Given the description of an element on the screen output the (x, y) to click on. 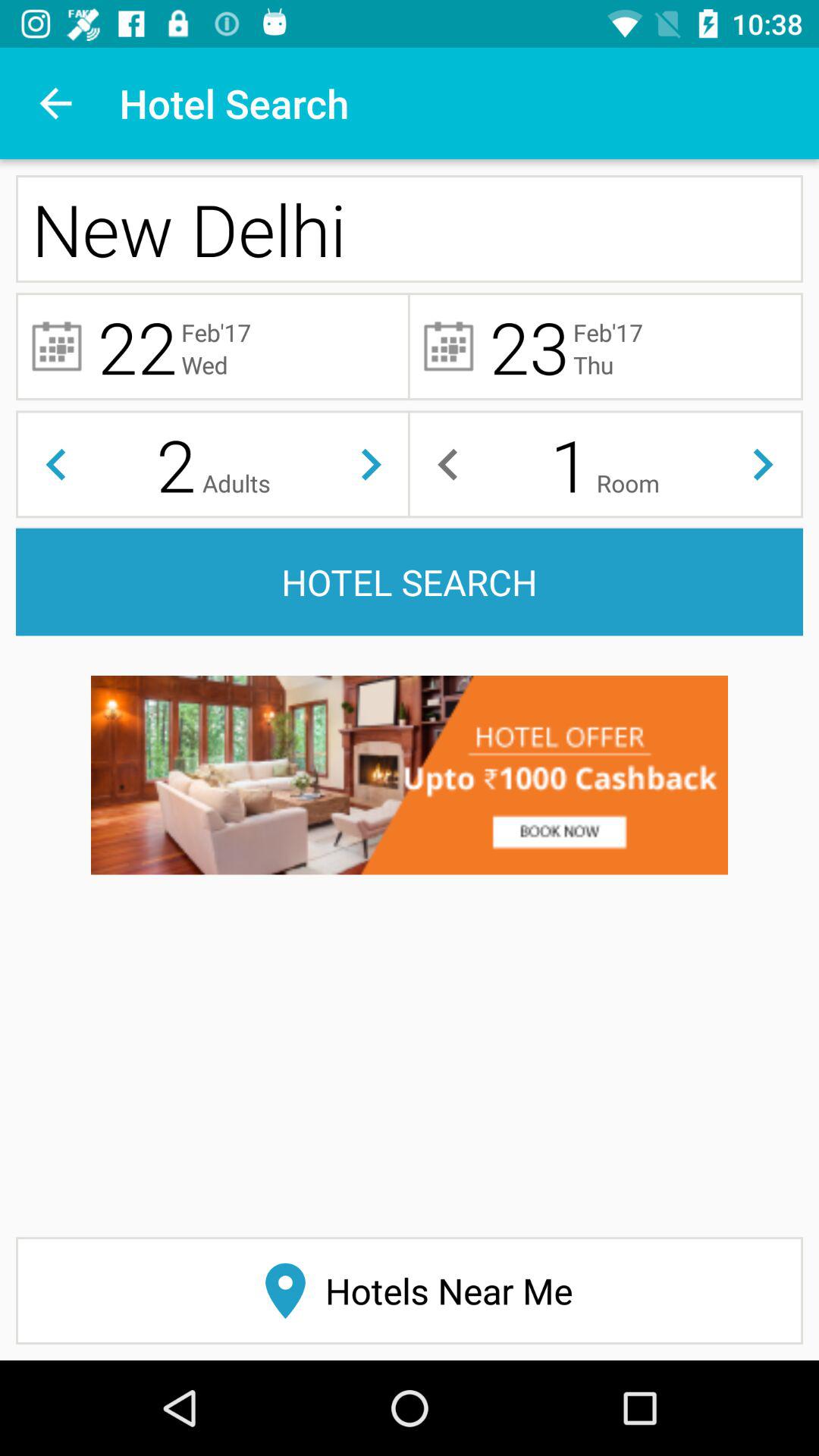
subtract adult (55, 464)
